Given the description of an element on the screen output the (x, y) to click on. 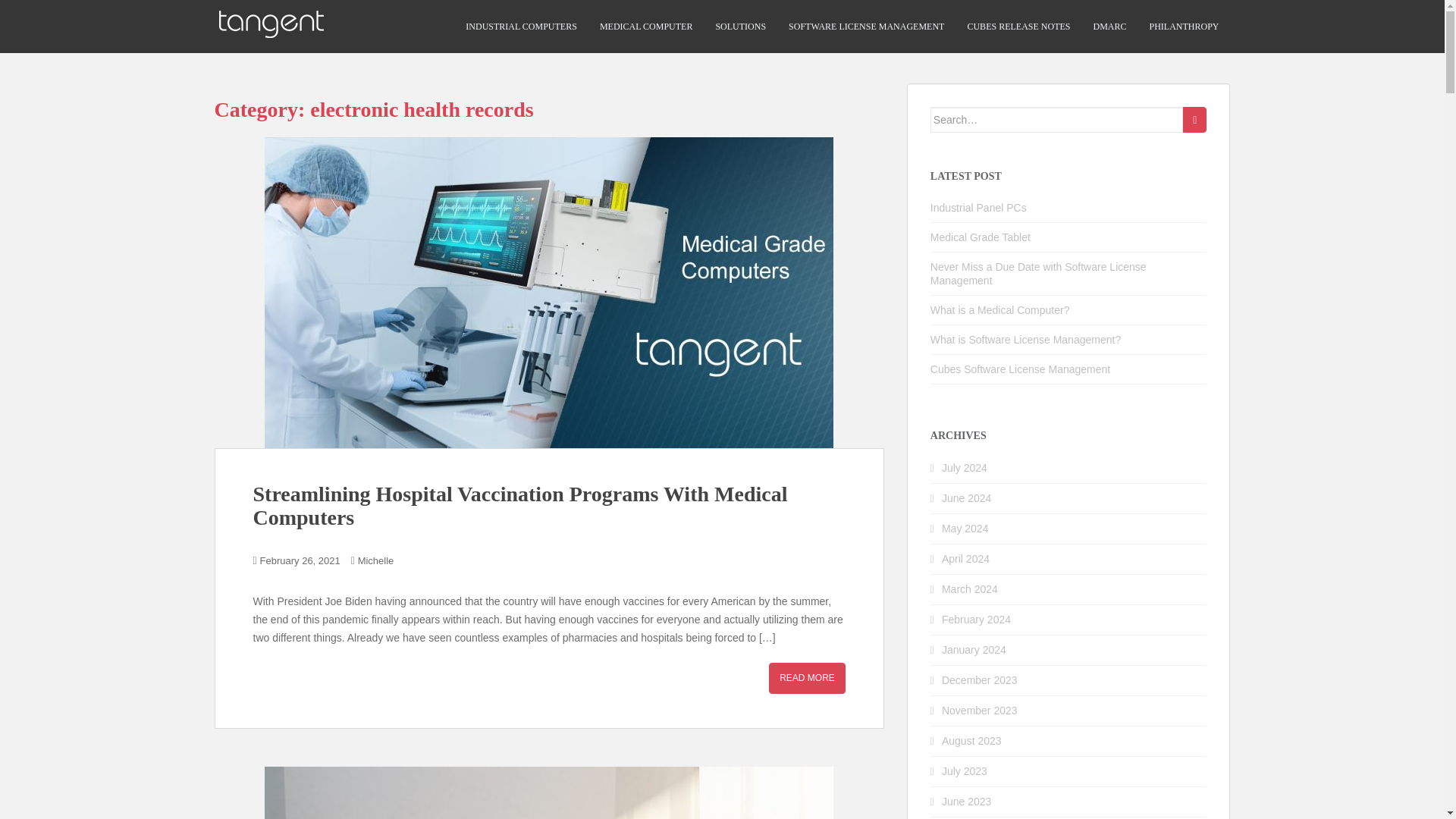
SOFTWARE LICENSE MANAGEMENT (866, 26)
February 26, 2021 (300, 560)
Michelle (376, 560)
SOLUTIONS (739, 26)
CUBES RELEASE NOTES (1018, 26)
MEDICAL COMPUTER (646, 26)
